Given the description of an element on the screen output the (x, y) to click on. 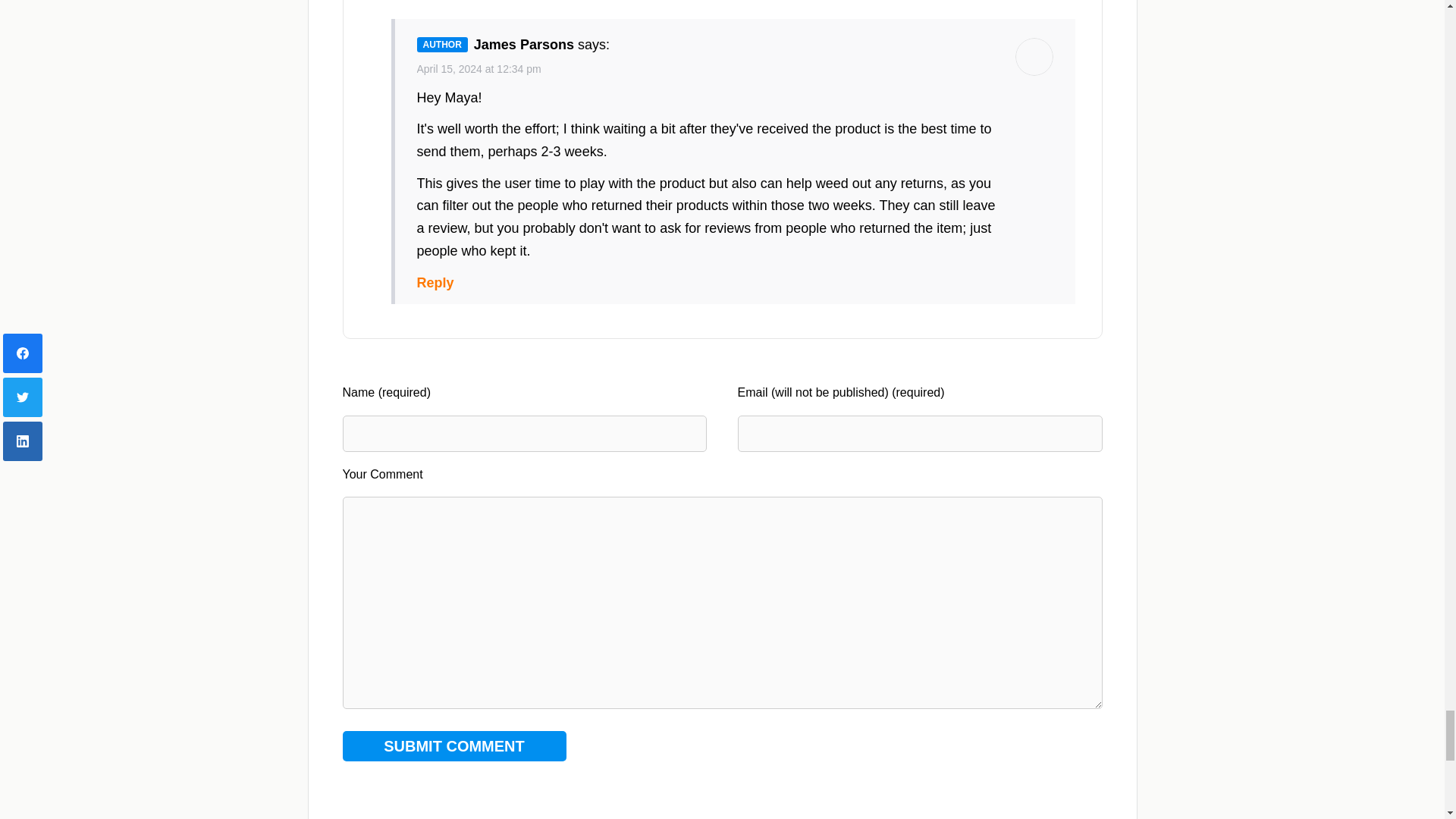
Submit Comment (454, 746)
